Given the description of an element on the screen output the (x, y) to click on. 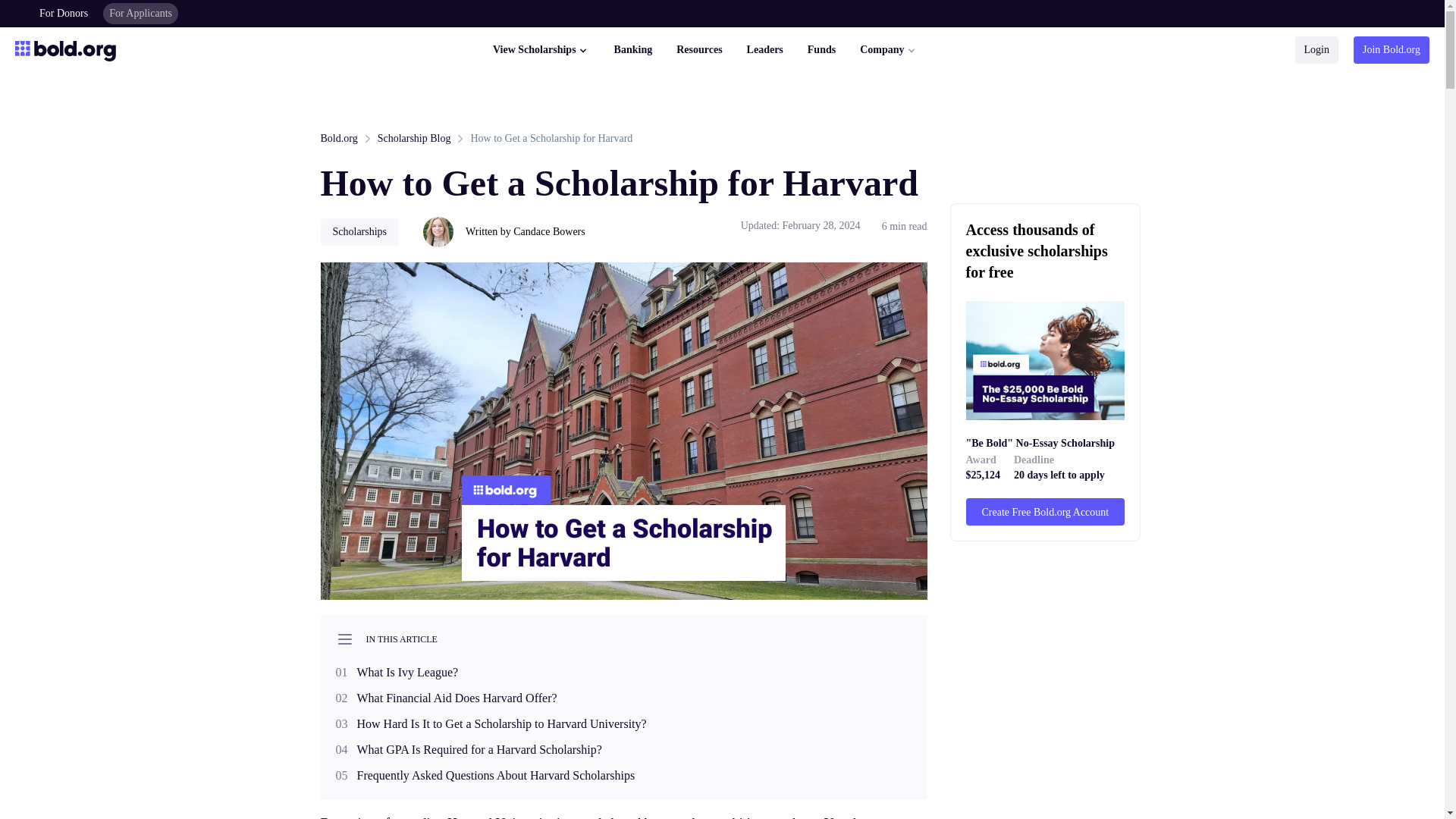
Join Bold.org (1391, 49)
Scholarships (359, 231)
For Applicants (140, 13)
"Be Bold" No-Essay Scholarship (1045, 443)
View Scholarships (541, 49)
Leaders (764, 49)
Create Free Bold.org Account (1045, 511)
Funds (821, 49)
Scholarship Blog (414, 138)
Resources (699, 49)
